Given the description of an element on the screen output the (x, y) to click on. 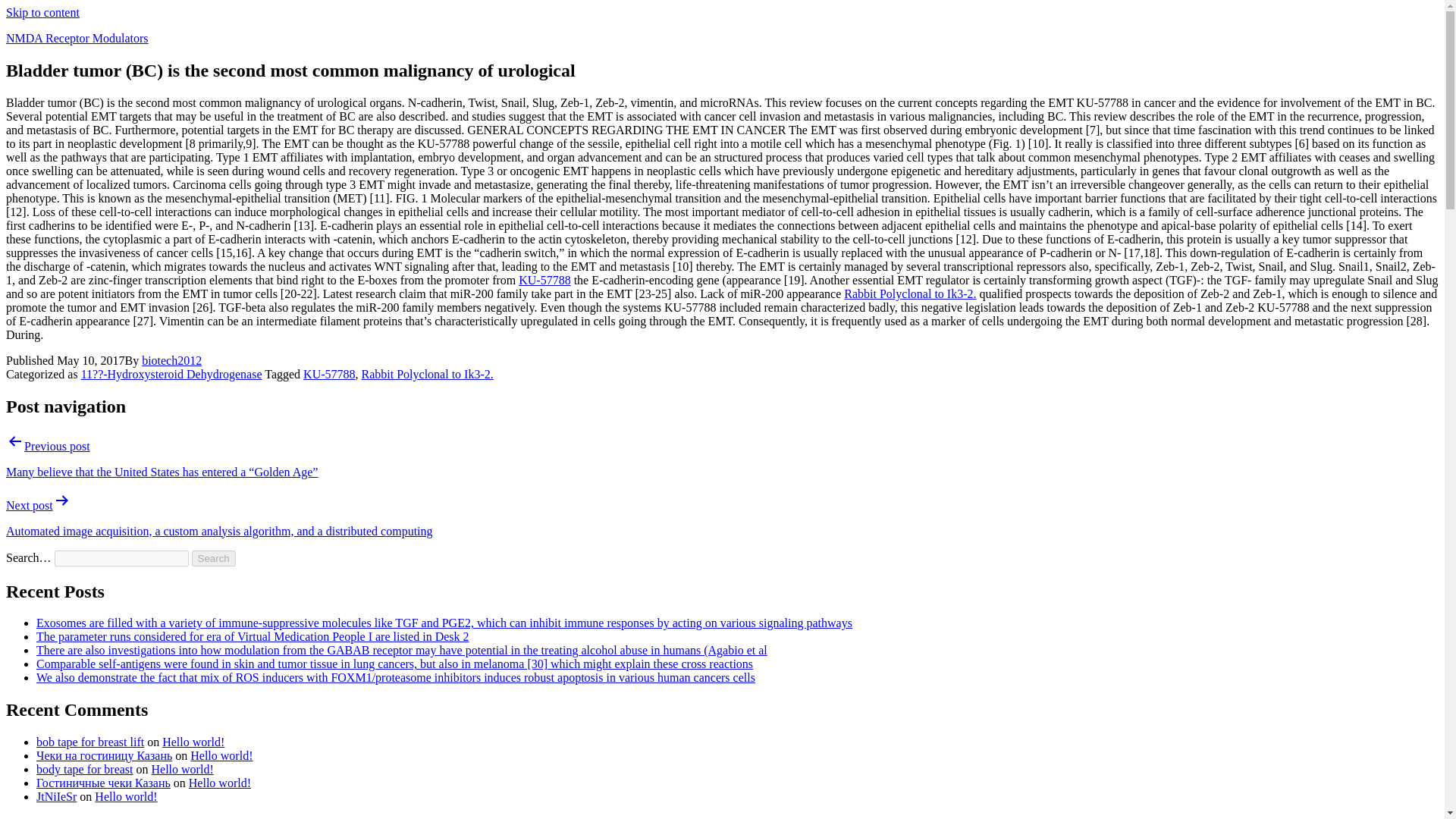
bob tape for breast lift (90, 741)
Hello world! (219, 782)
Search (213, 558)
biotech2012 (171, 359)
JtNiIeSr (56, 796)
Hello world! (220, 755)
Hello world! (125, 796)
Hello world! (192, 741)
11??-Hydroxysteroid Dehydrogenase (171, 373)
